Given the description of an element on the screen output the (x, y) to click on. 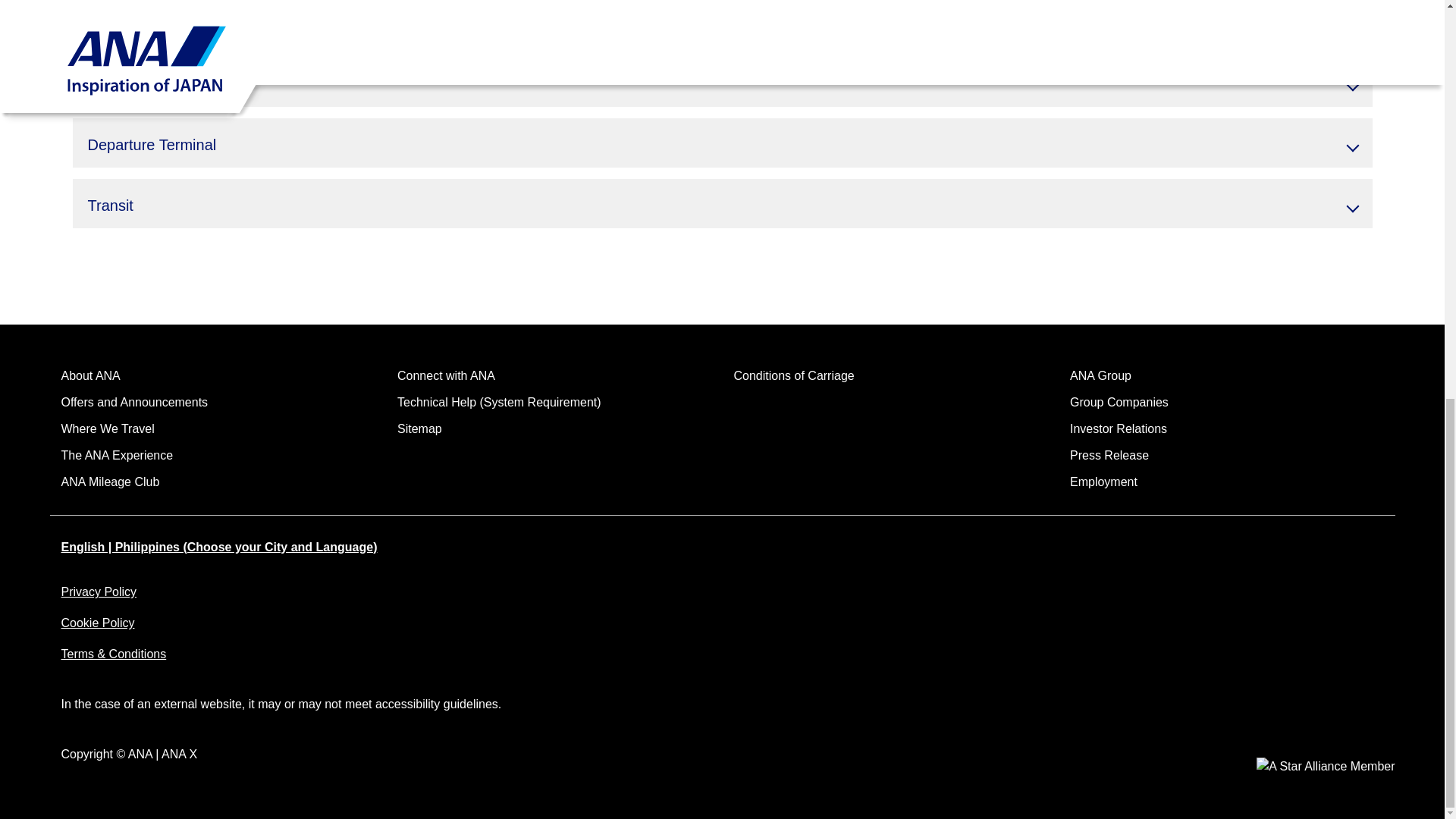
Offers and Announcements (134, 401)
Paris Charles de Gaulle Airport website (226, 12)
About ANA (90, 375)
